Given the description of an element on the screen output the (x, y) to click on. 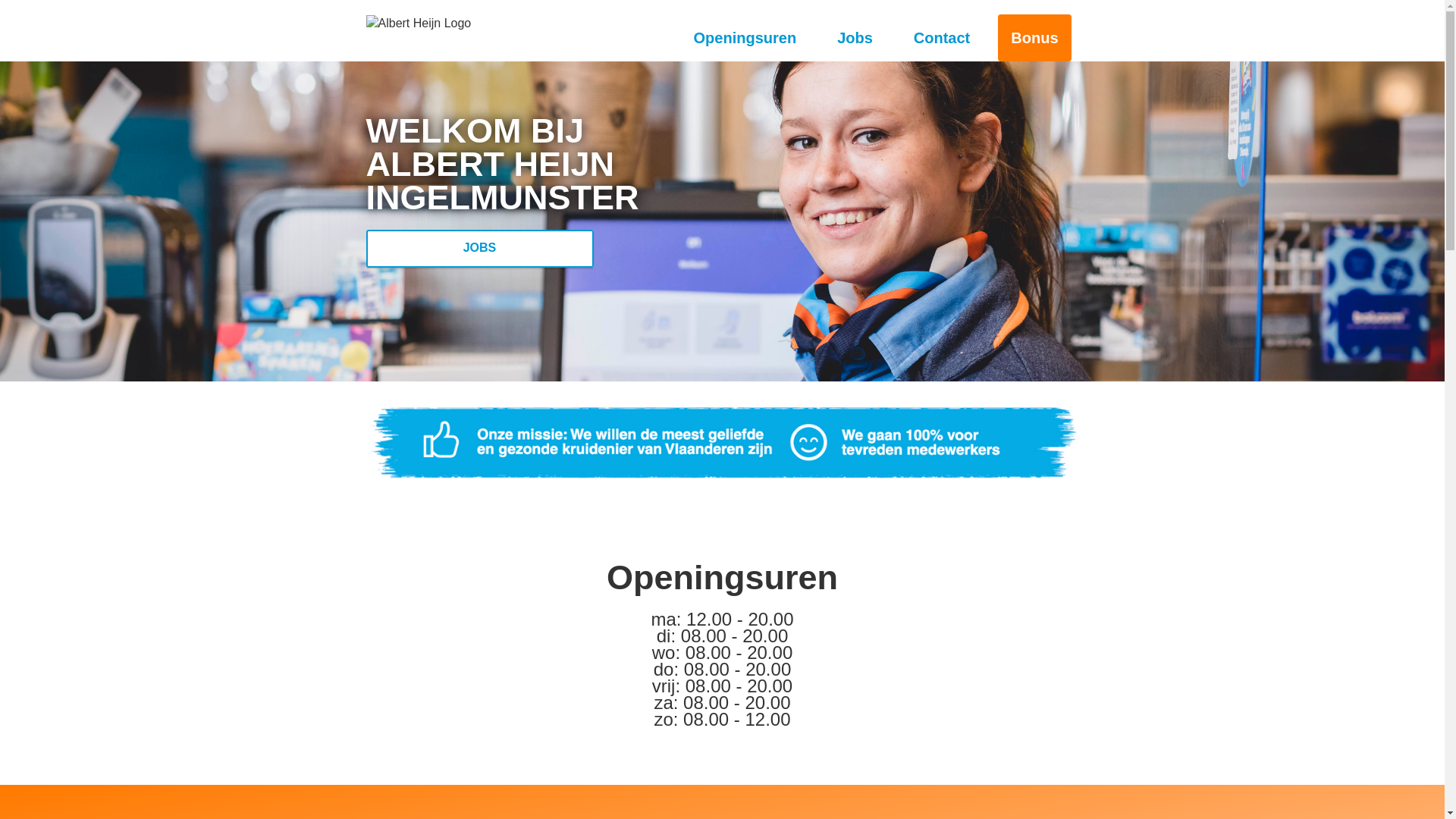
JOBS Element type: text (479, 248)
Contact Element type: text (941, 37)
Openingsuren Element type: text (744, 37)
Jobs Element type: text (854, 37)
Bonus Element type: text (1033, 37)
